Given the description of an element on the screen output the (x, y) to click on. 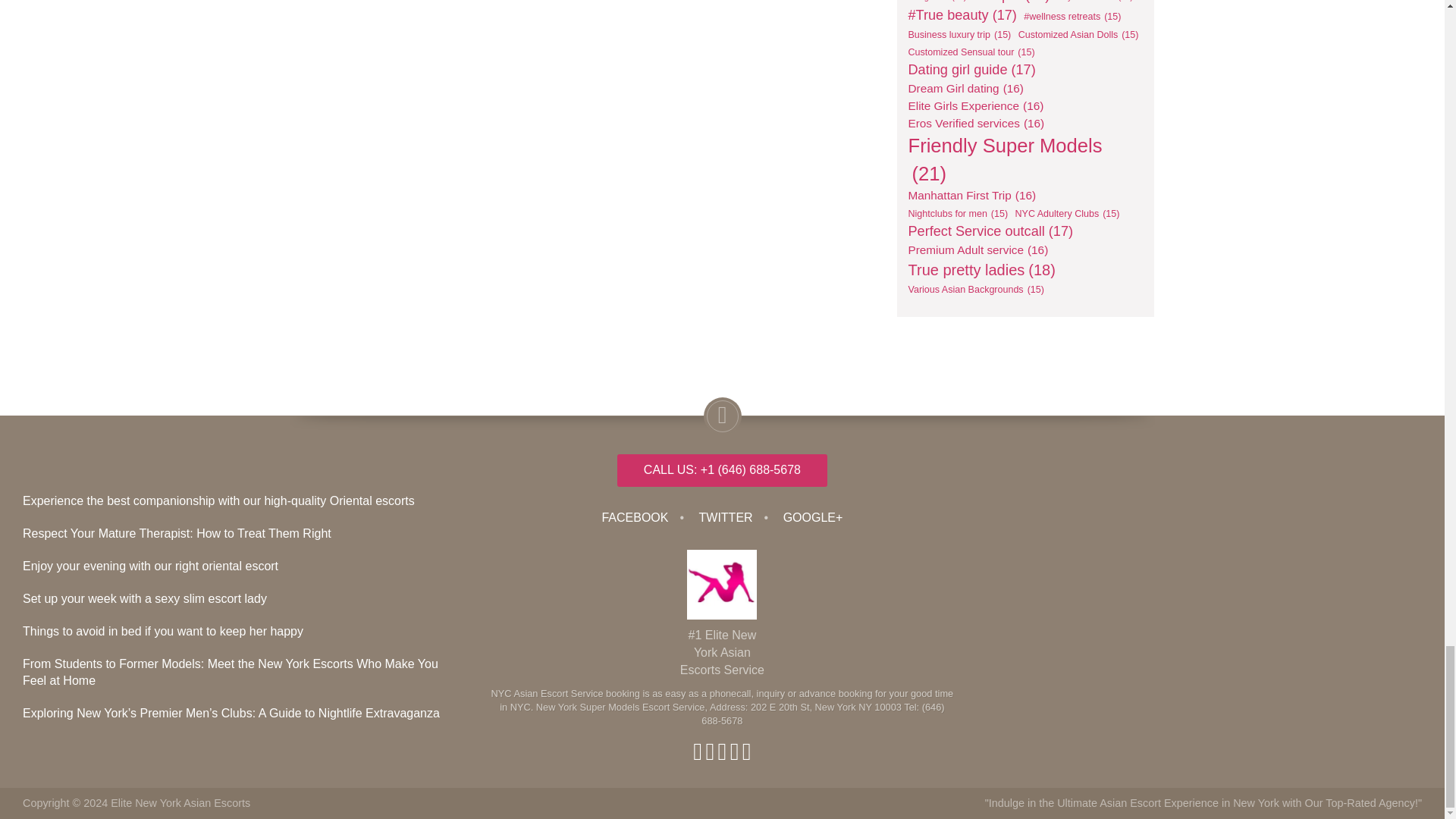
Elite New York Asian Escorts (180, 802)
